Given the description of an element on the screen output the (x, y) to click on. 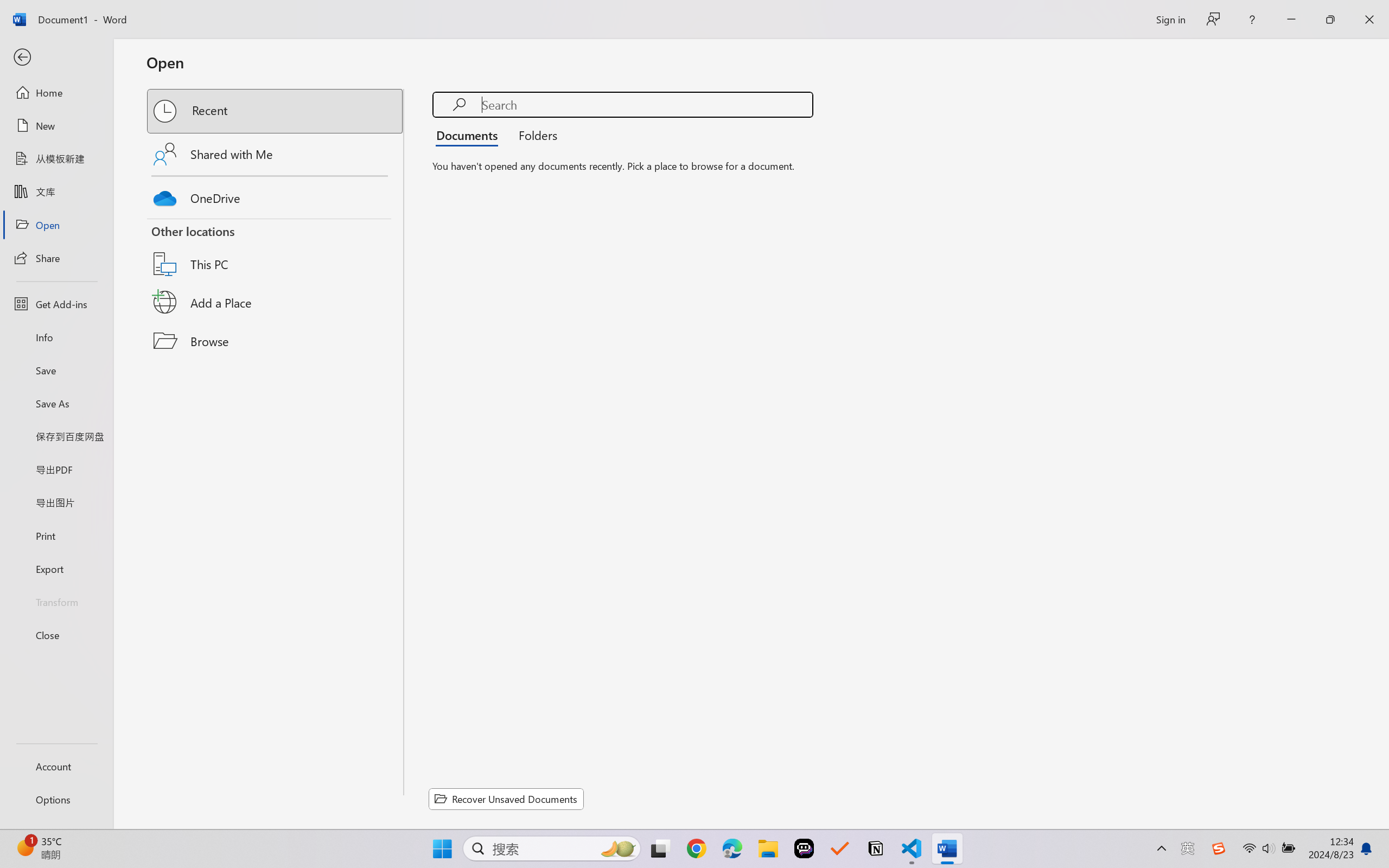
Export (56, 568)
Options (56, 798)
Info (56, 337)
This PC (275, 249)
Get Add-ins (56, 303)
Recent (275, 110)
Add a Place (275, 302)
